Given the description of an element on the screen output the (x, y) to click on. 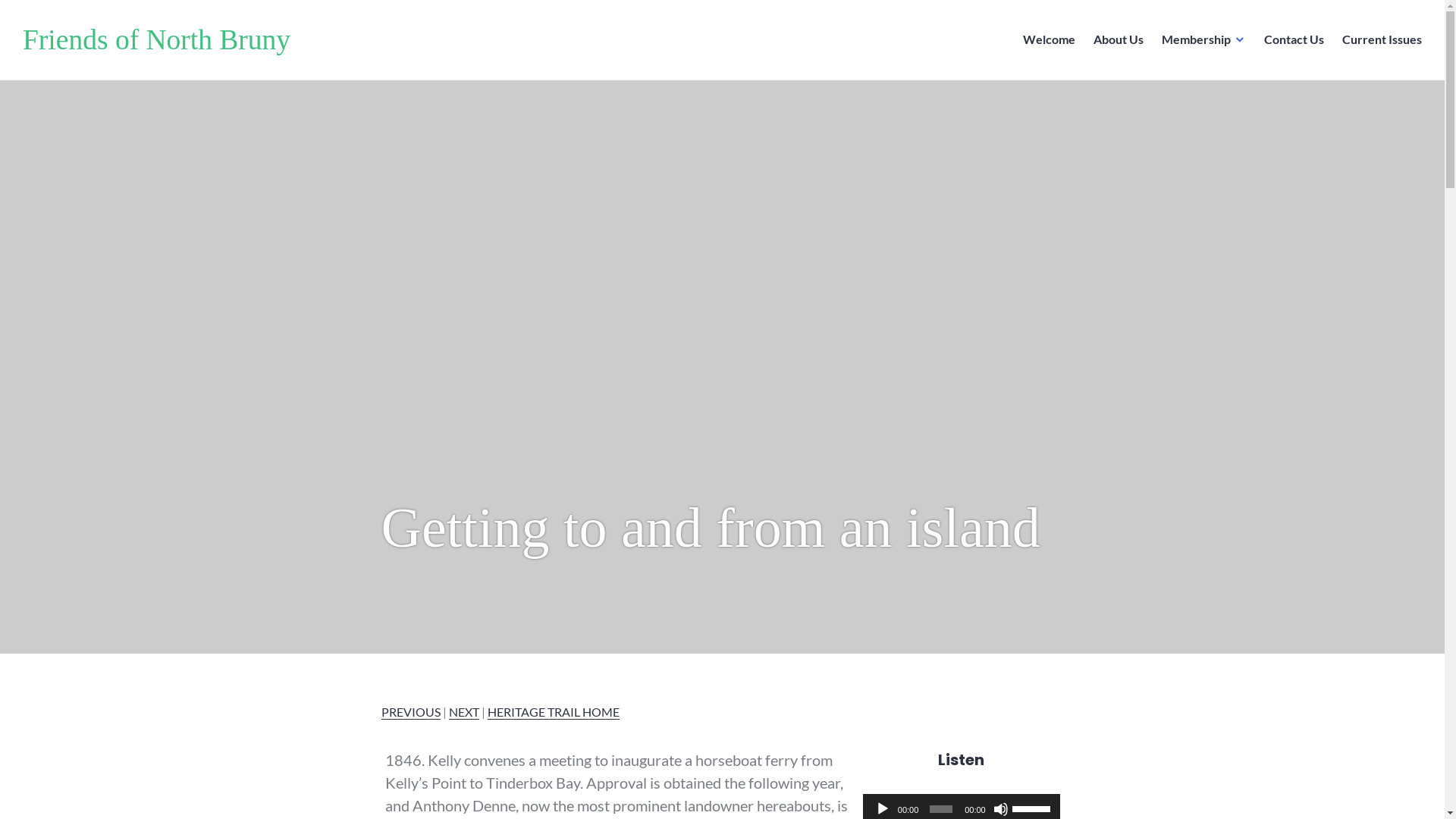
Current Issues Element type: text (1381, 40)
NEXT Element type: text (463, 711)
Welcome Element type: text (1048, 40)
About Us Element type: text (1118, 40)
Play Element type: hover (882, 808)
HERITAGE TRAIL HOME Element type: text (552, 711)
PREVIOUS Element type: text (409, 711)
Membership Element type: text (1203, 40)
Mute Element type: hover (1000, 808)
Friends of North Bruny Element type: text (156, 39)
Contact Us Element type: text (1294, 40)
